Given the description of an element on the screen output the (x, y) to click on. 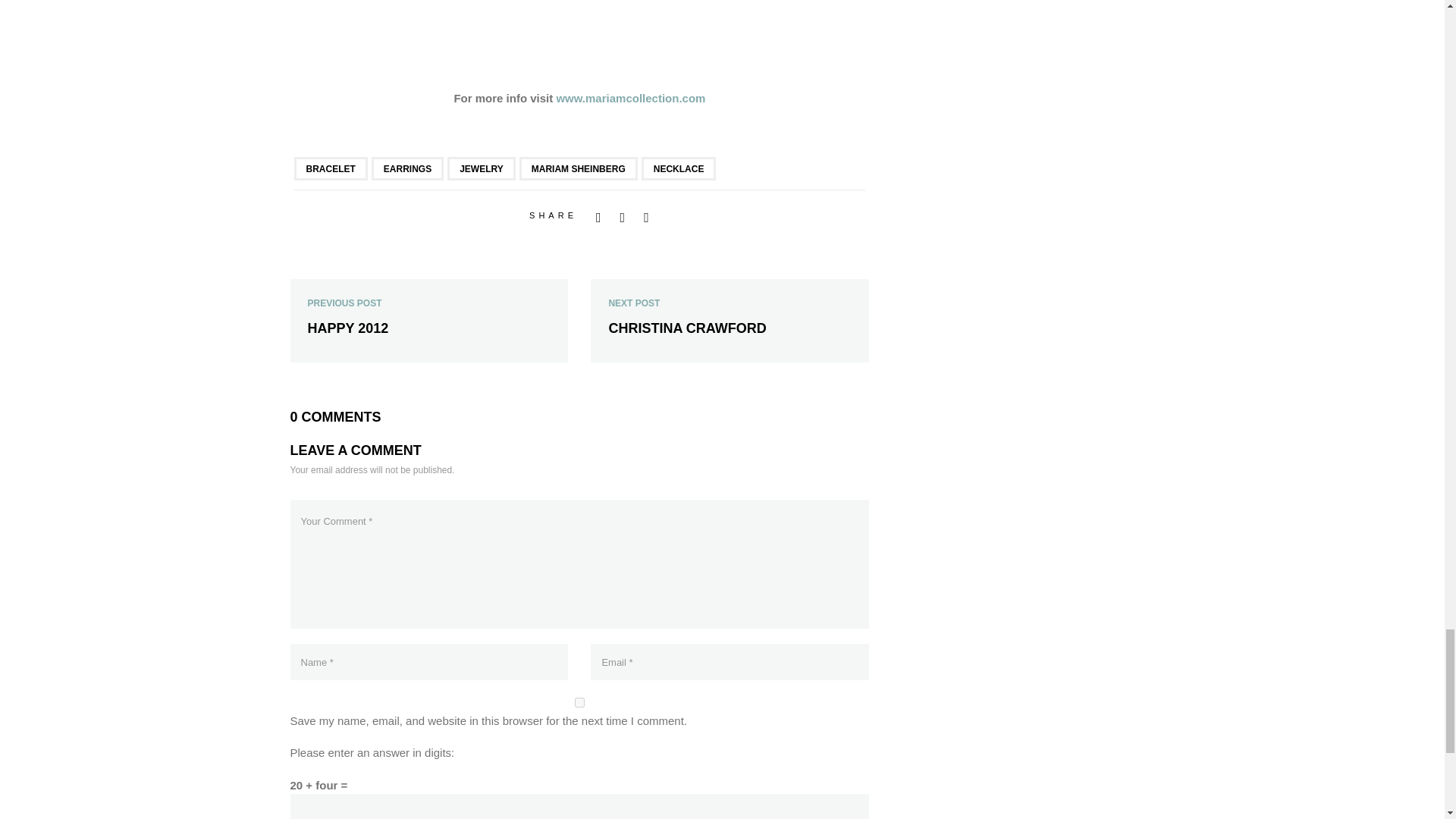
Majestic (579, 20)
yes (579, 702)
